Given the description of an element on the screen output the (x, y) to click on. 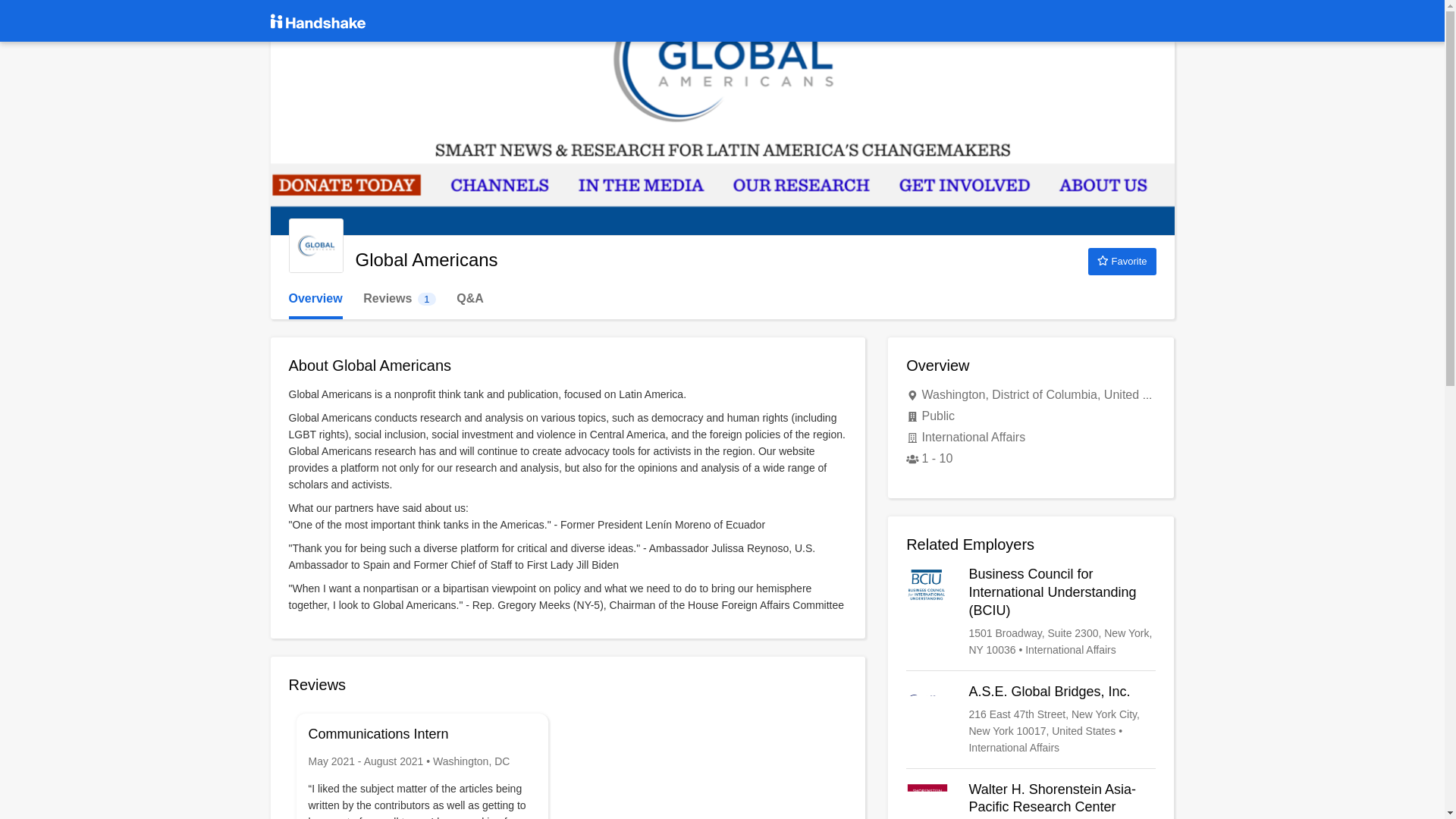
Overview (315, 298)
A.S.E. Global Bridges, Inc. (1030, 719)
Favorite (1121, 261)
Walter H. Shorenstein Asia-Pacific Research Center (1030, 800)
Global Americans (398, 298)
